Given the description of an element on the screen output the (x, y) to click on. 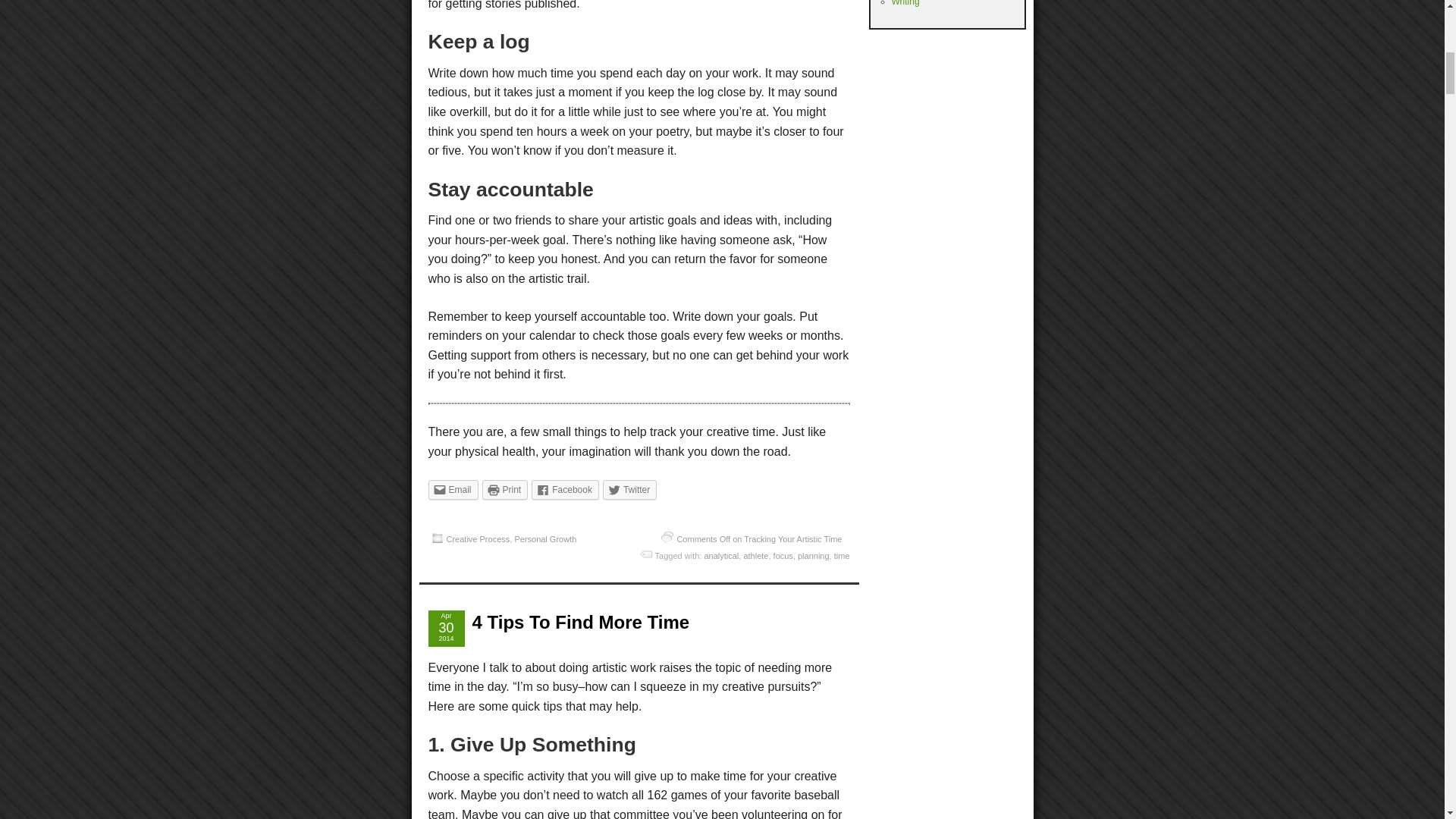
Facebook (564, 489)
Email (452, 489)
Personal Growth (544, 538)
Creative Process (477, 538)
analytical (720, 555)
Click to email this to a friend (452, 489)
Twitter (629, 489)
4 Tips To Find More Time (579, 621)
Click to print (504, 489)
Click to share on Facebook (564, 489)
4 Tips To Find More Time (579, 621)
Print (504, 489)
planning (813, 555)
focus (783, 555)
Click to share on Twitter (629, 489)
